Given the description of an element on the screen output the (x, y) to click on. 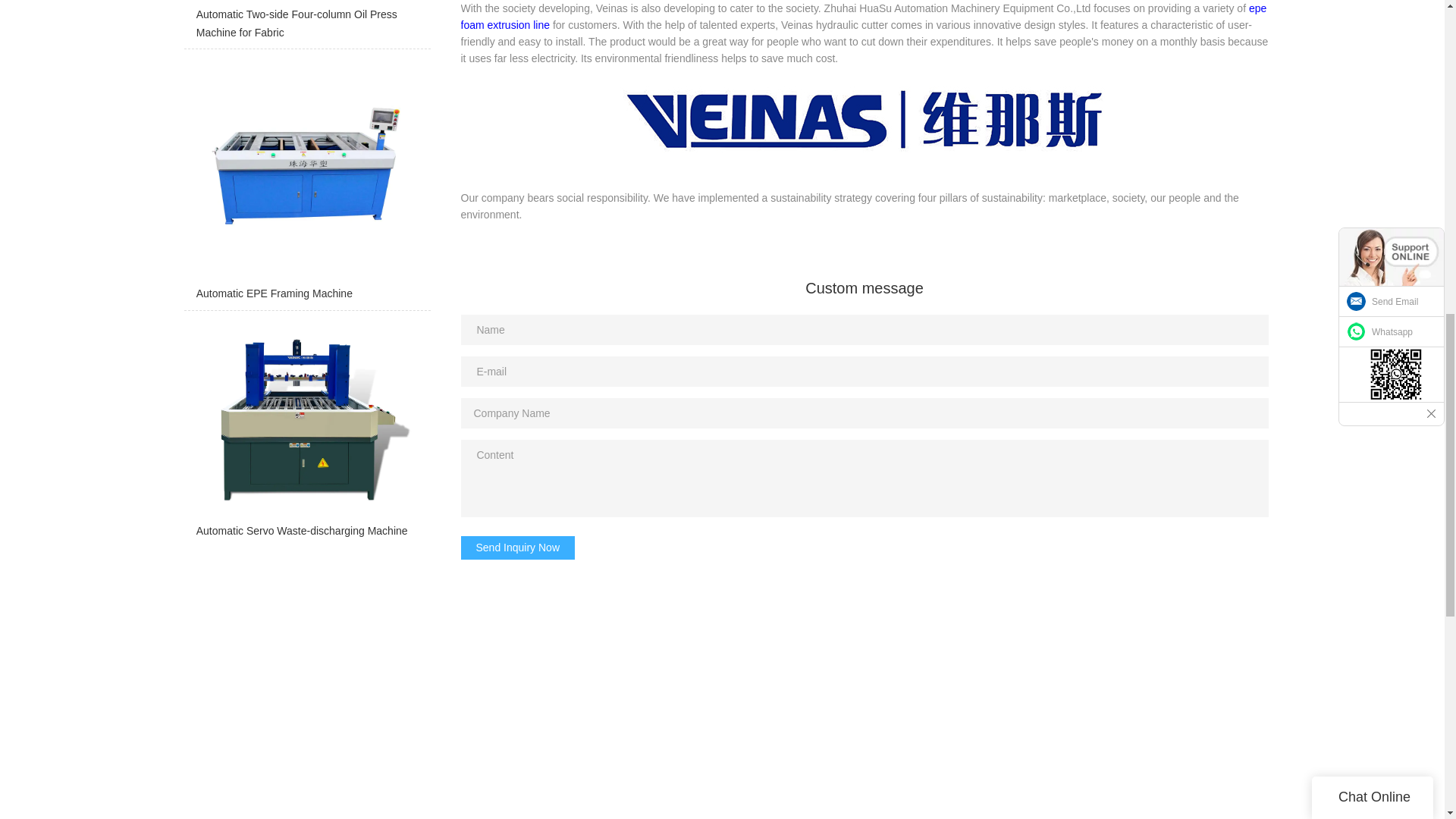
Send Inquiry Now (518, 547)
Automatic EPE Framing Machine (306, 183)
Automatic Servo Waste-discharging Machine (306, 432)
epe foam extrusion line (863, 16)
Automatic Two-side Four-column Oil Press Machine for Fabric (306, 24)
